Given the description of an element on the screen output the (x, y) to click on. 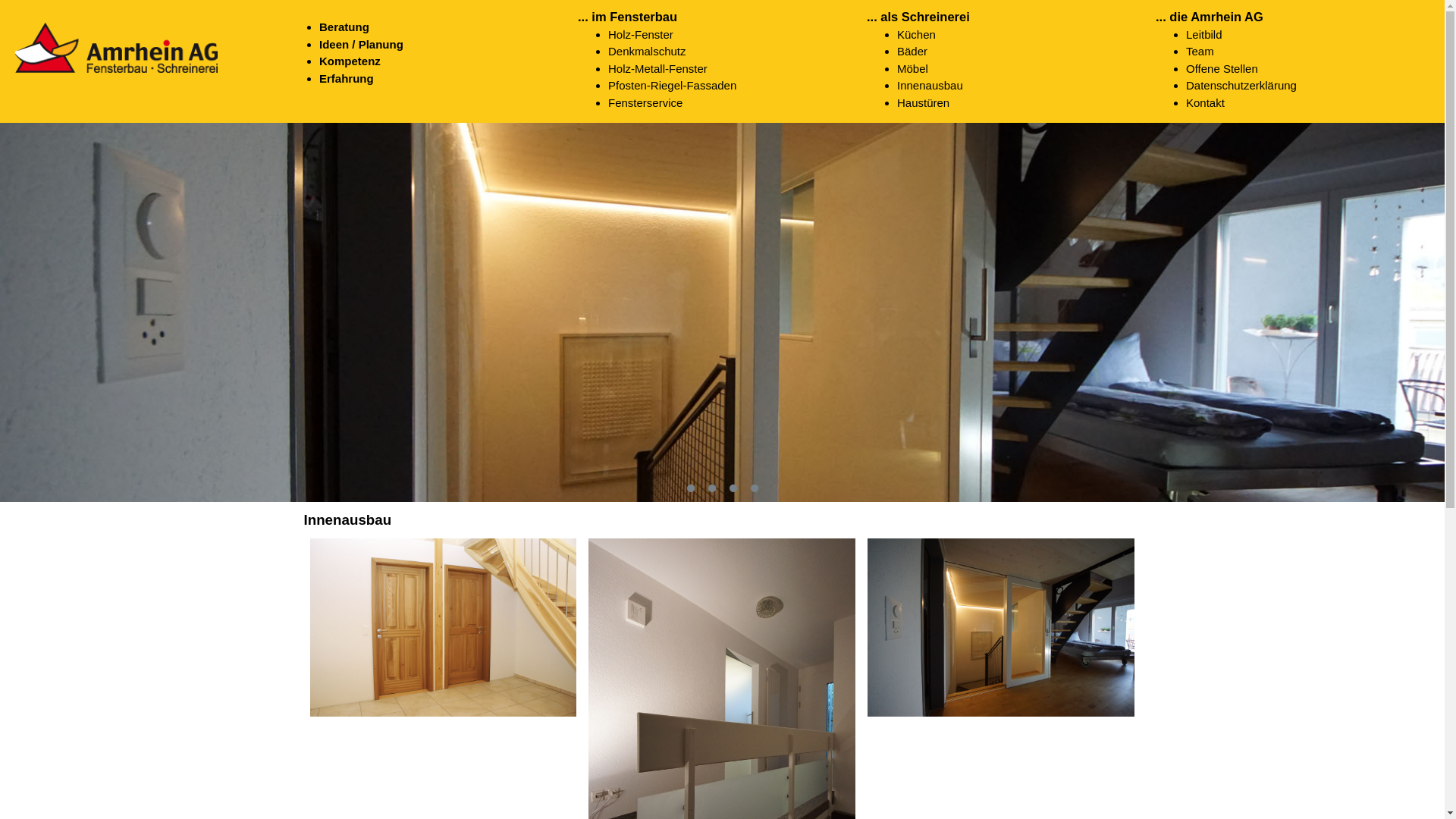
Ideen / Planung Element type: text (448, 44)
Pfosten-Riegel-Fassaden Element type: text (737, 85)
Holz-Metall-Fenster Element type: text (737, 69)
Kompetenz Element type: text (448, 61)
Holz-Fenster Element type: text (737, 34)
... als Schreinerei Element type: text (917, 16)
... die Amrhein AG Element type: text (1209, 16)
Erfahrung Element type: text (448, 78)
Fensterservice Element type: text (737, 103)
... im Fensterbau Element type: text (627, 16)
Innenausbau Element type: text (1026, 85)
Denkmalschutz Element type: text (737, 51)
Offene Stellen Element type: text (1315, 69)
Team Element type: text (1315, 51)
Beratung Element type: text (448, 27)
Kontakt Element type: text (1315, 103)
Leitbild Element type: text (1315, 34)
